Given the description of an element on the screen output the (x, y) to click on. 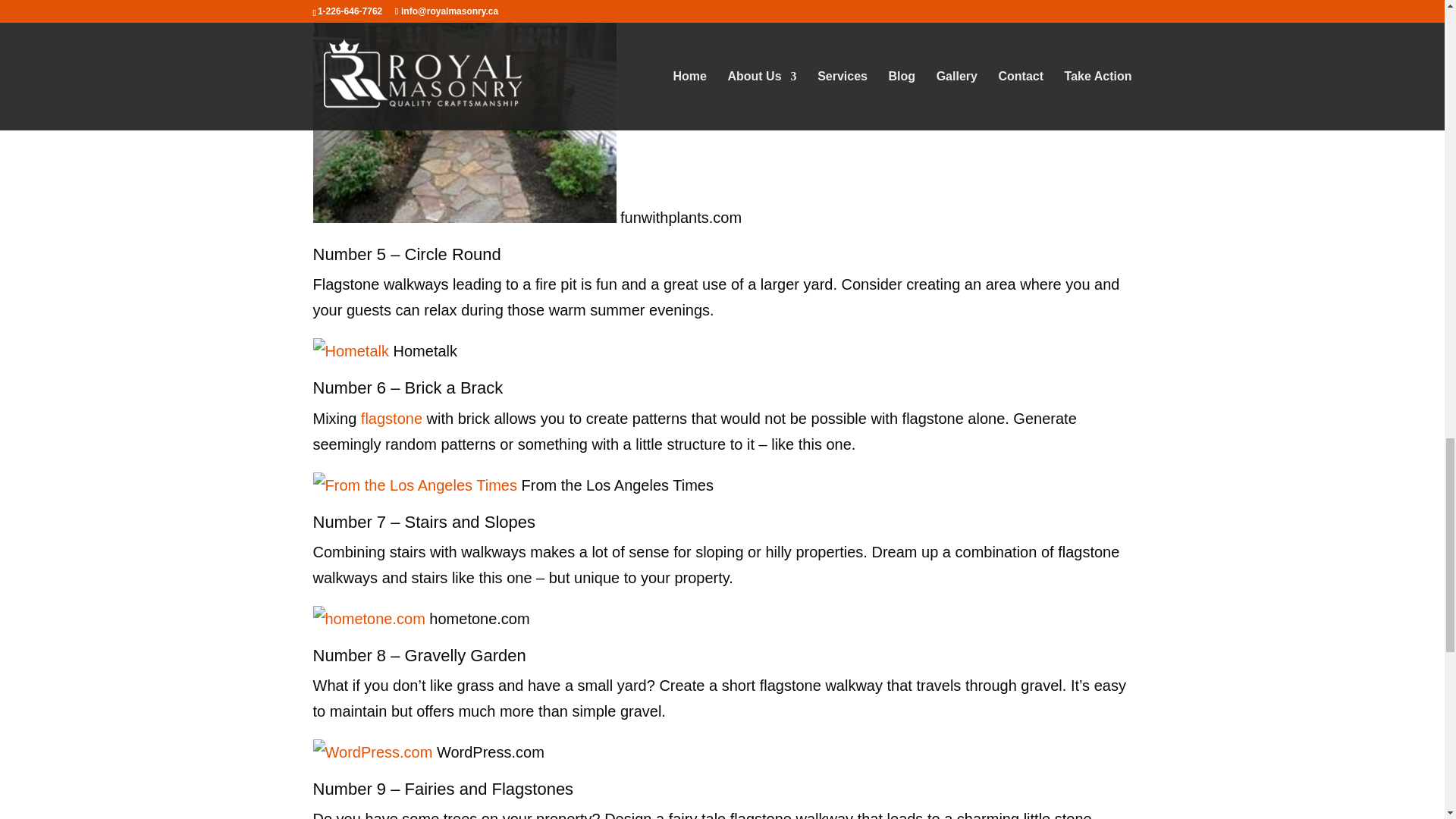
flagstone (393, 417)
